Given the description of an element on the screen output the (x, y) to click on. 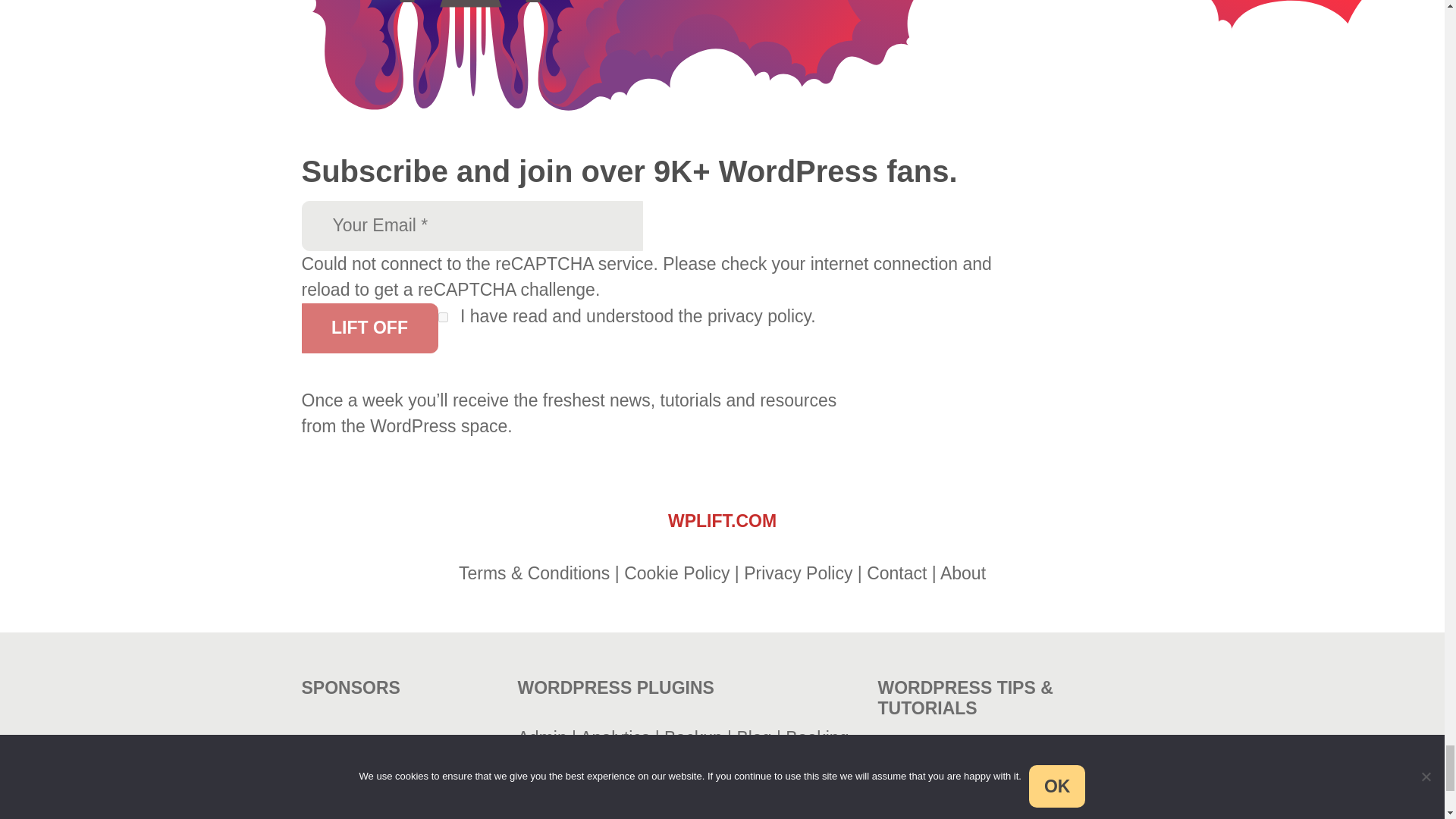
on (443, 317)
Lift OFF (369, 327)
